Given the description of an element on the screen output the (x, y) to click on. 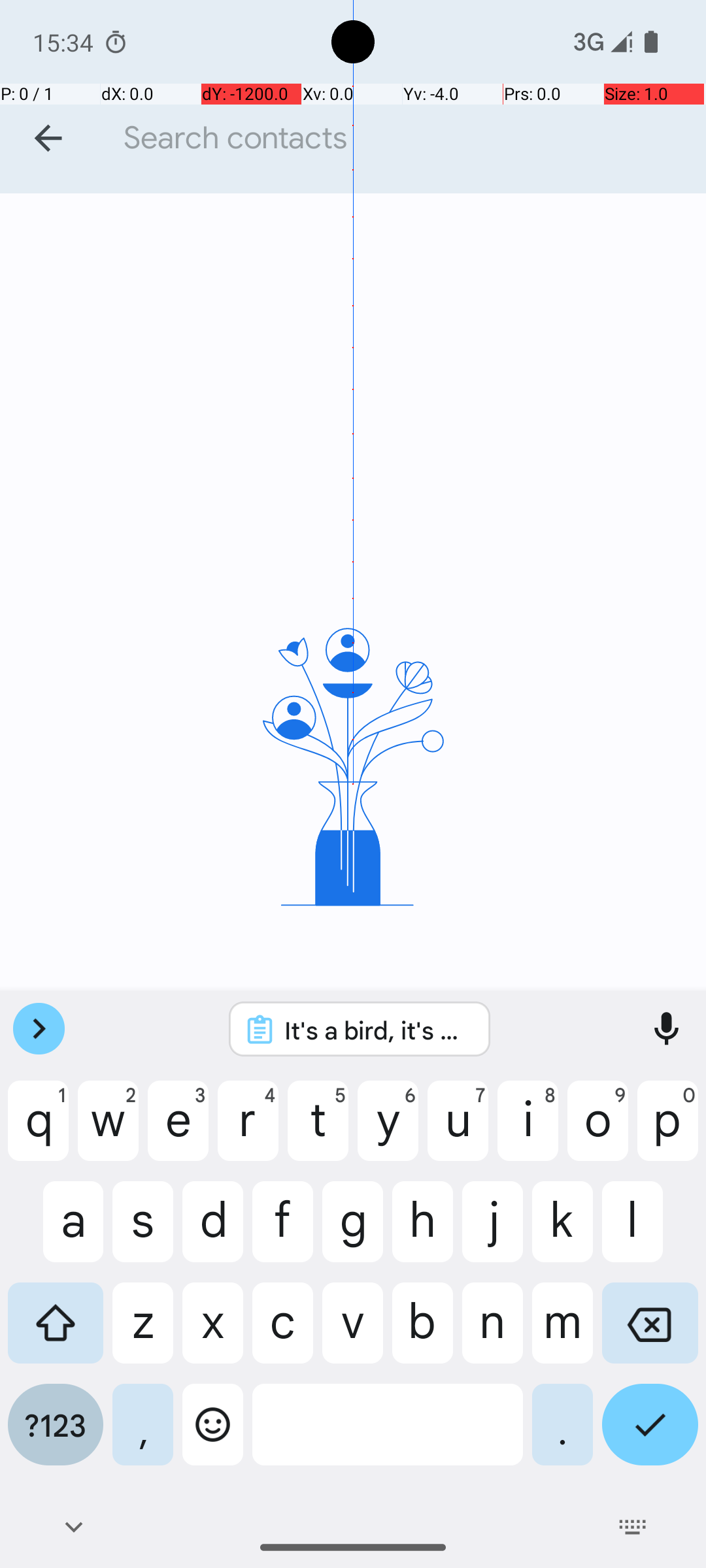
Search contacts Element type: android.widget.EditText (407, 138)
